Given the description of an element on the screen output the (x, y) to click on. 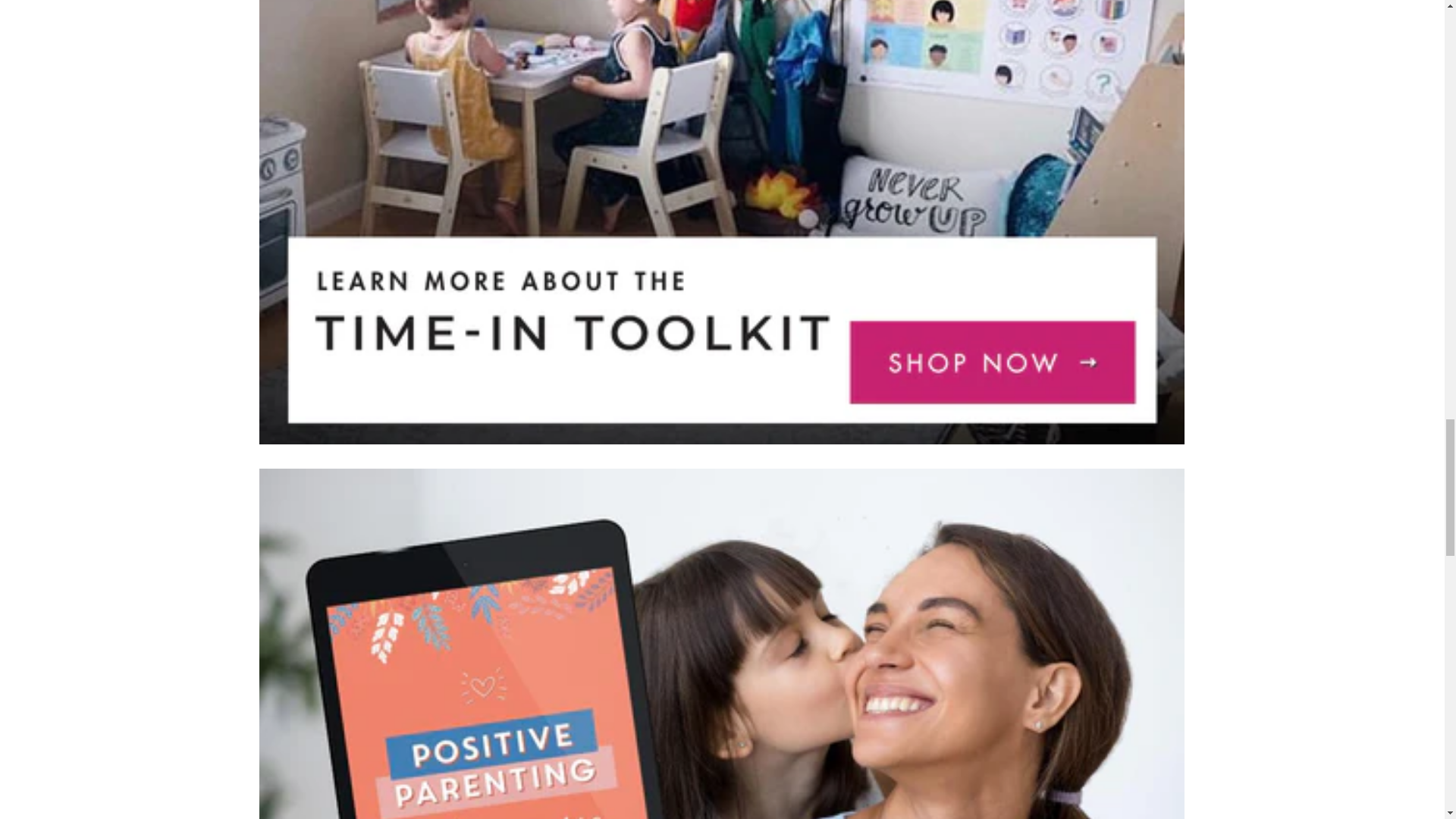
Time-In-ToolKit (722, 440)
